Given the description of an element on the screen output the (x, y) to click on. 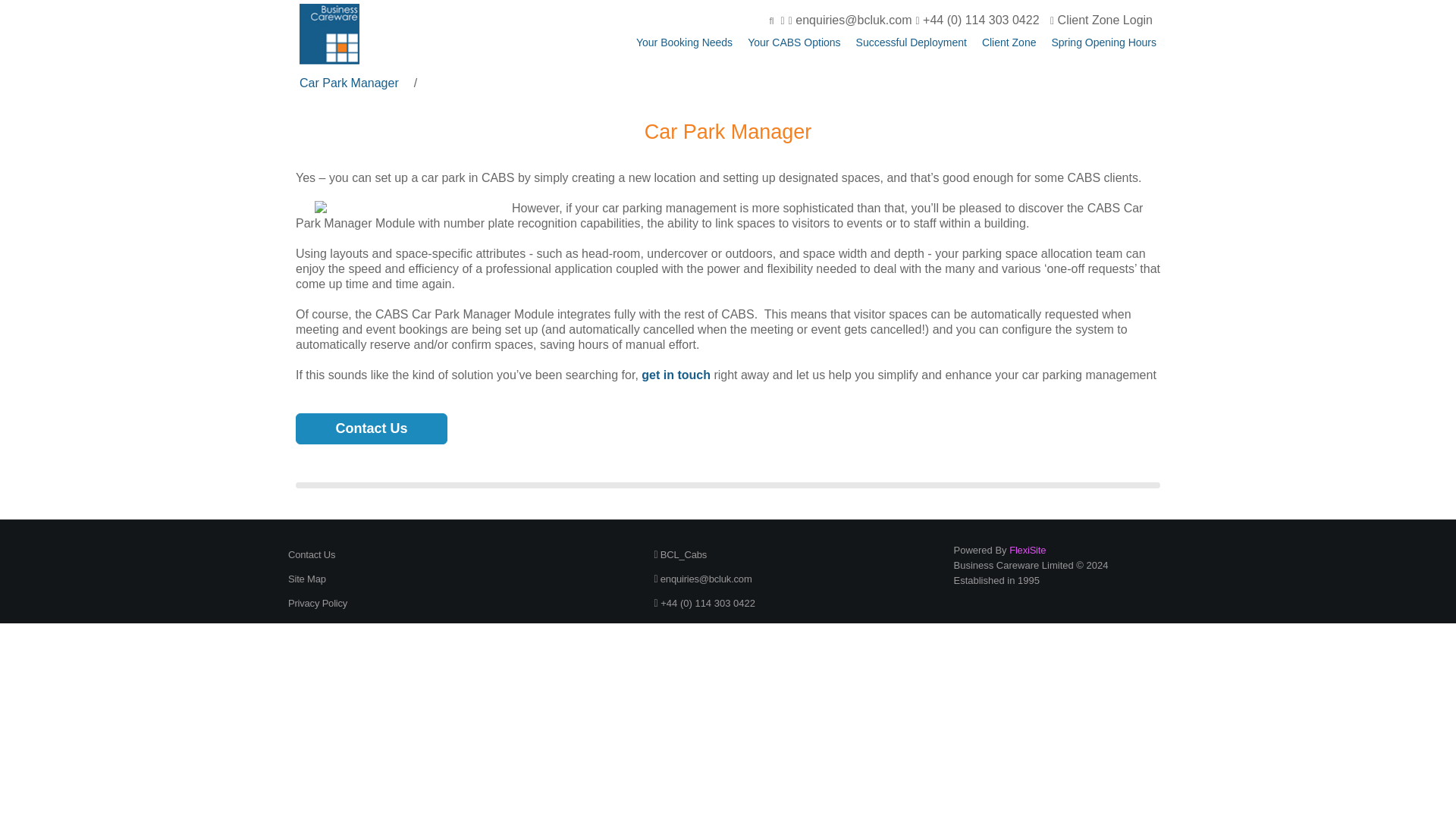
Contact Us (370, 429)
Client Zone (1008, 42)
Successful Deployment (911, 42)
Car Park Manager (348, 82)
FlexiSite (1027, 550)
Privacy Policy (317, 603)
Contact Us (311, 554)
Spring Opening Hours (1103, 42)
Client Zone Login (1101, 19)
Site Map (307, 578)
